Given the description of an element on the screen output the (x, y) to click on. 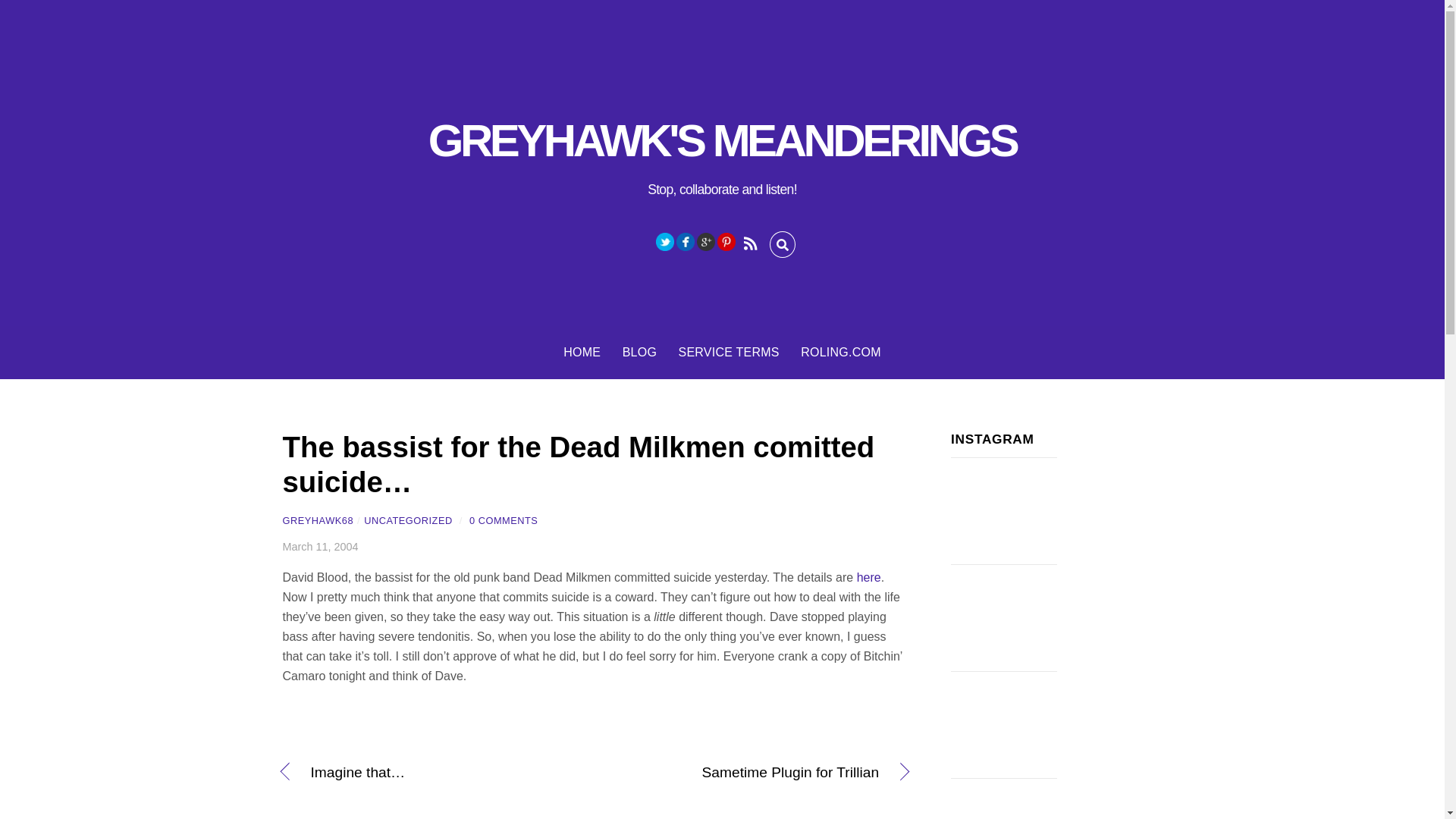
GREYHAWK68 (317, 520)
Merry Christmas Fo Shizzle (1003, 724)
here (868, 576)
ROLING.COM (840, 352)
SERVICE TERMS (728, 352)
Hope you all have a cozy day (1003, 798)
GREYHAWK'S MEANDERINGS (722, 140)
Greyhawk's Meanderings (722, 140)
RSS (749, 241)
UNCATEGORIZED (408, 520)
'Sup? (1003, 510)
0 COMMENTS (502, 520)
